Given the description of an element on the screen output the (x, y) to click on. 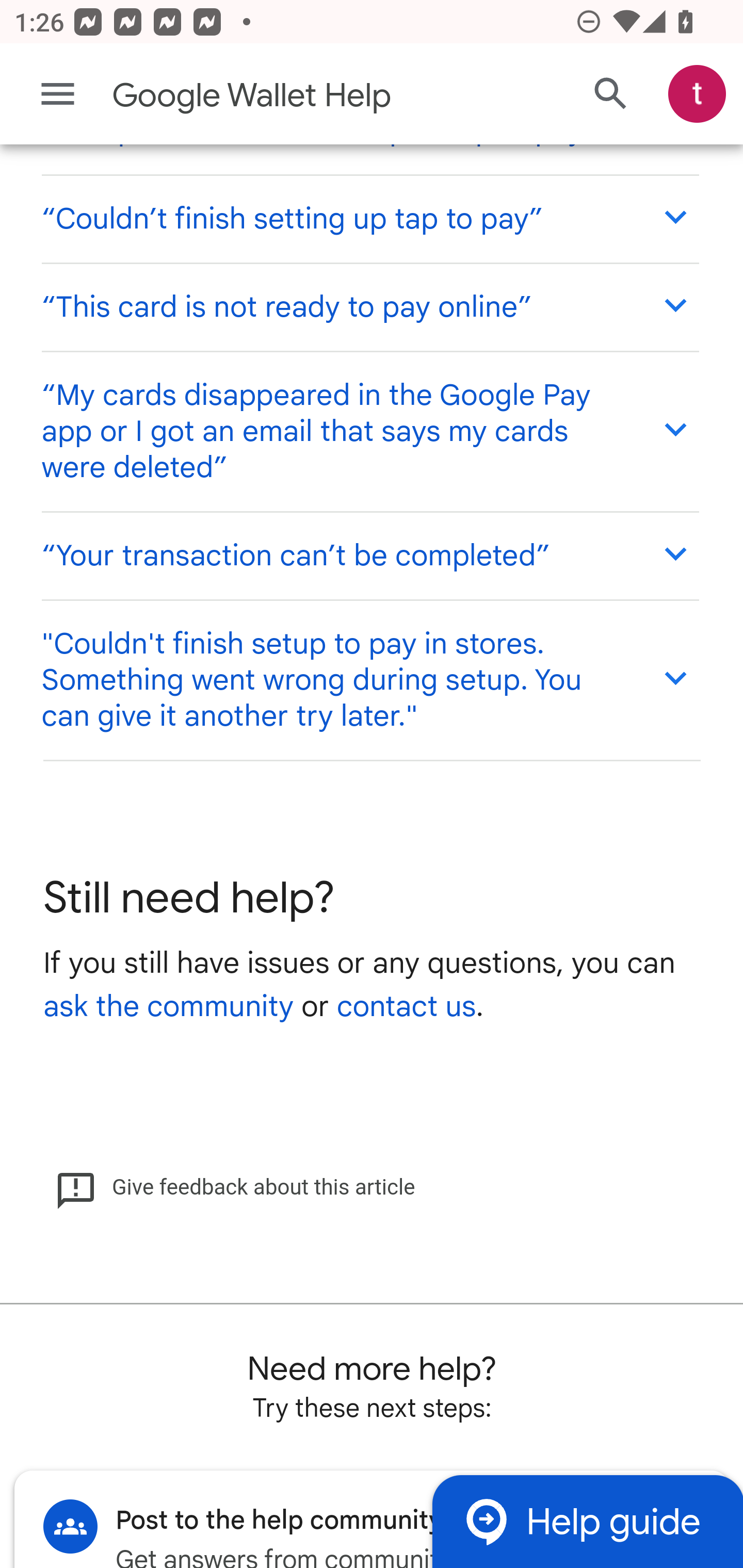
Main menu (58, 93)
Google Wallet Help (292, 96)
Search Help Center (611, 94)
“Couldn’t finish setting up tap to pay” (369, 218)
“This card is not ready to pay online” (369, 306)
“Your transaction can’t be completed” (369, 555)
ask the community (168, 1007)
contact us (406, 1007)
Give feedback about this article (235, 1187)
Help guide (587, 1520)
